Given the description of an element on the screen output the (x, y) to click on. 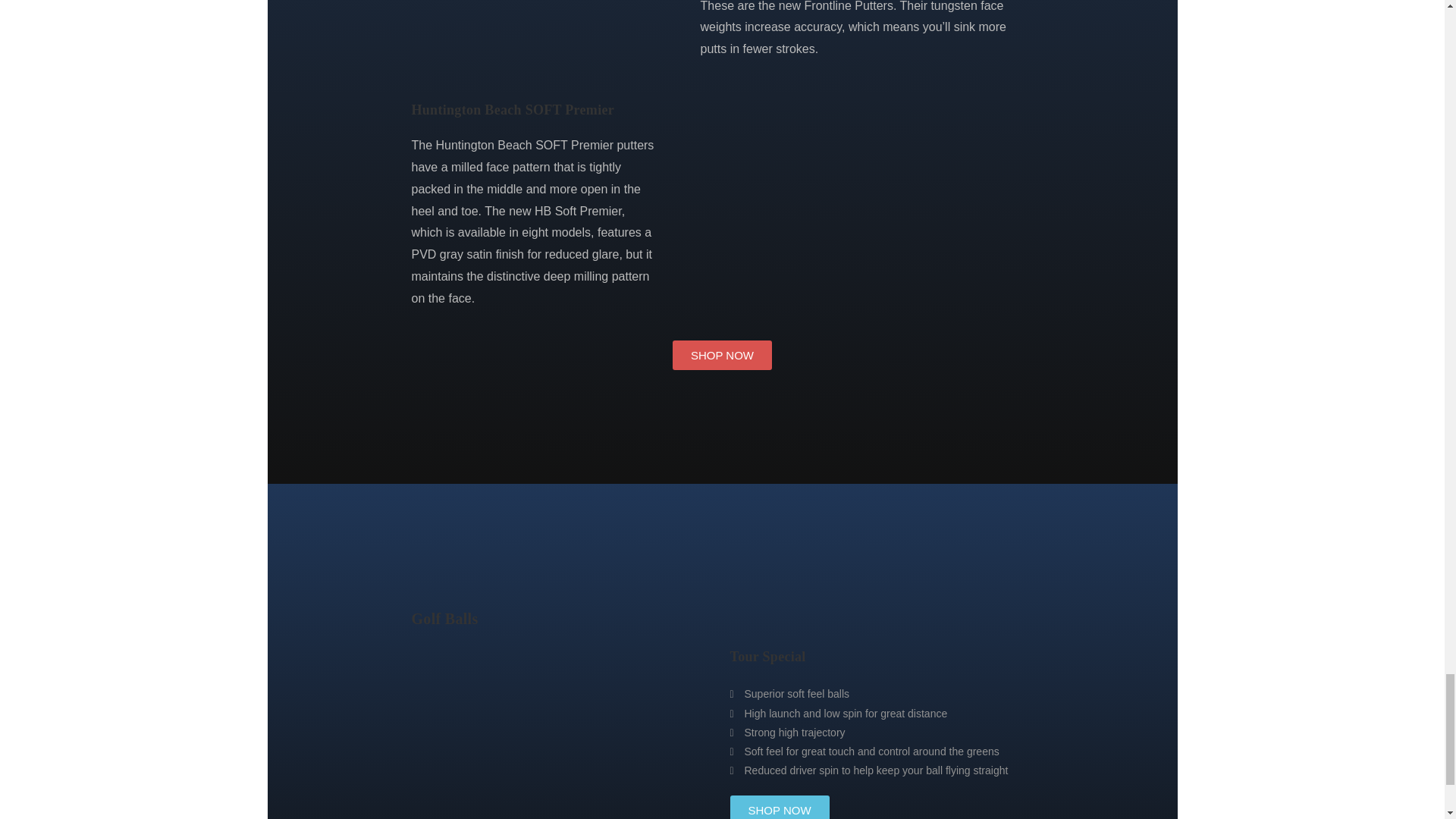
SHOP NOW (721, 355)
SHOP NOW (778, 807)
